Given the description of an element on the screen output the (x, y) to click on. 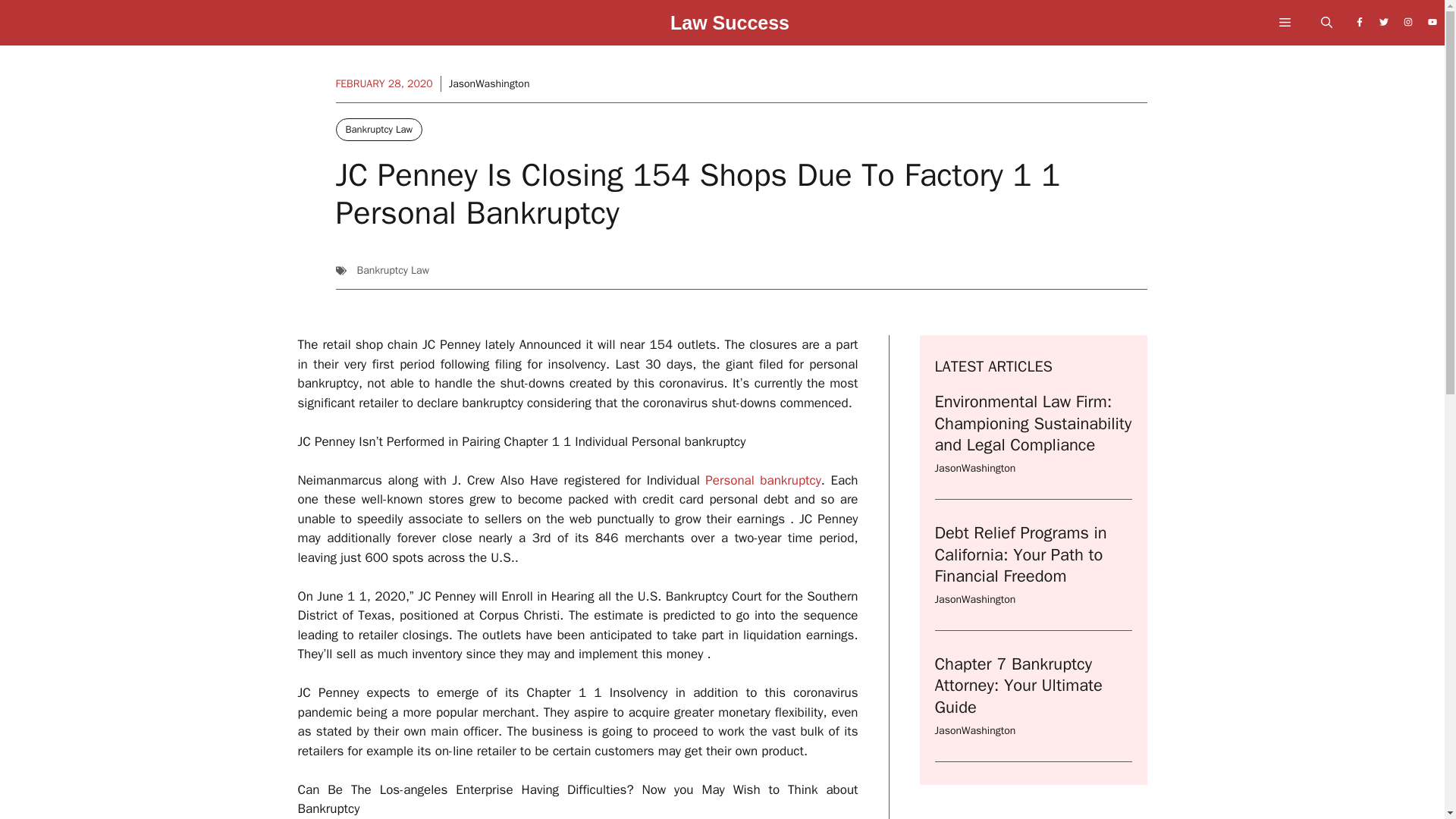
JasonWashington (488, 83)
JasonWashington (974, 468)
Chapter 7 Bankruptcy Attorney: Your Ultimate Guide (1018, 685)
JasonWashington (974, 599)
Personal bankruptcy (762, 480)
Bankruptcy Law (392, 269)
Law Success (729, 26)
Bankruptcy Law (378, 128)
